Given the description of an element on the screen output the (x, y) to click on. 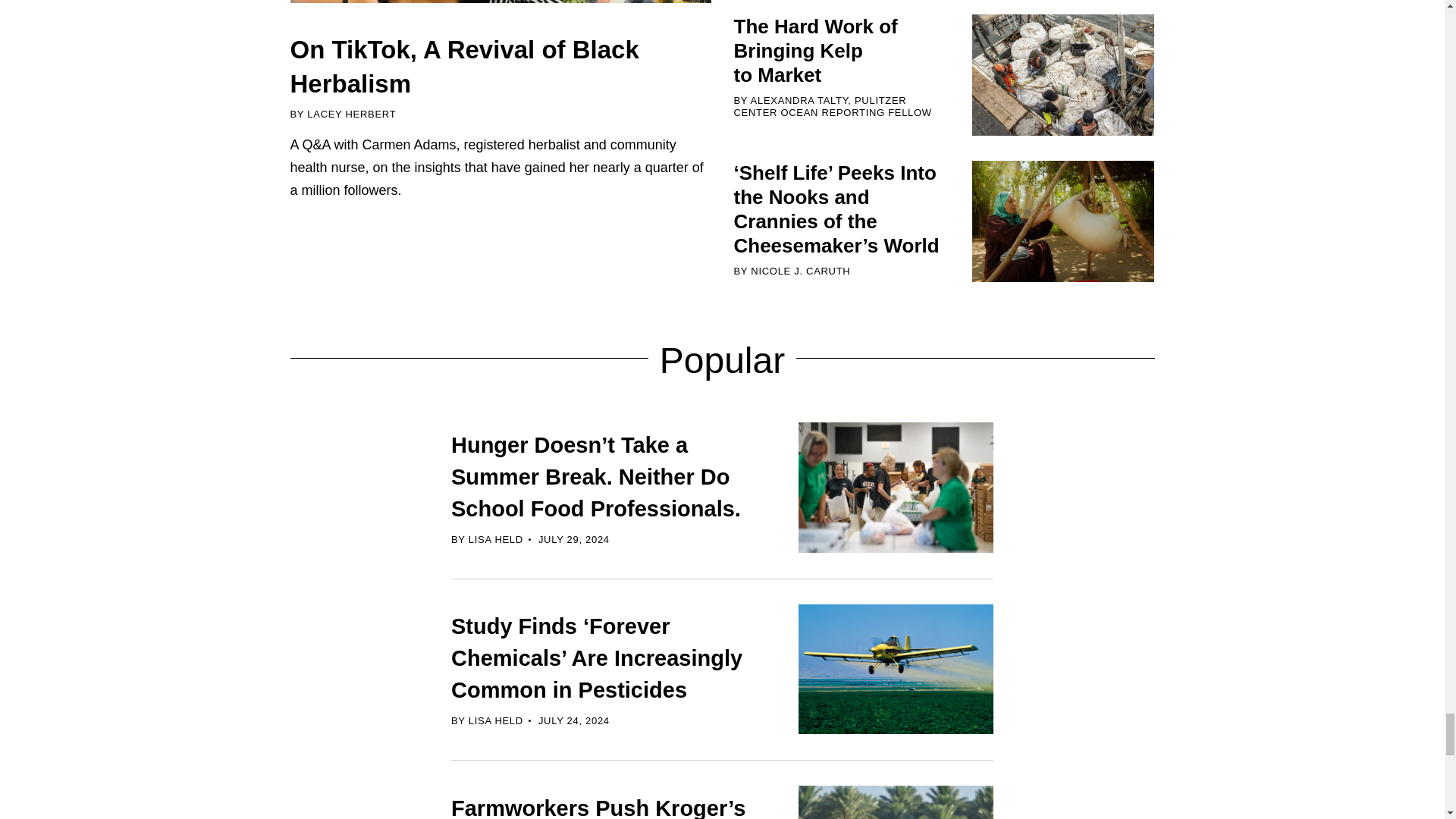
Posts by Nicole J. Caruth (800, 270)
Posts by Lisa Held (495, 539)
Posts by Lacey Herbert (351, 113)
